Given the description of an element on the screen output the (x, y) to click on. 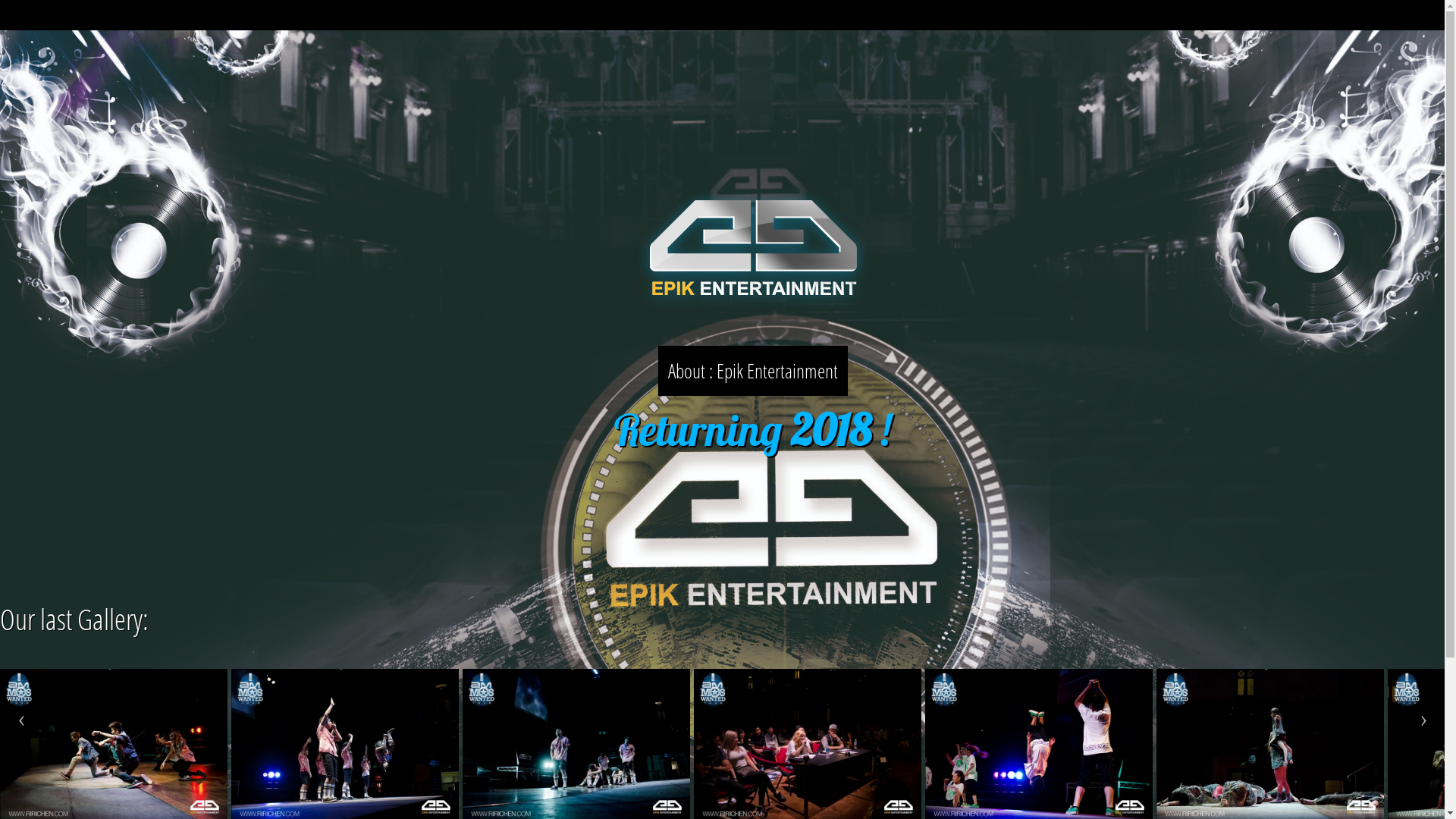
Next Element type: text (1423, 720)
About : Epik Entertainment Element type: text (752, 370)
Previous Element type: text (20, 720)
